Given the description of an element on the screen output the (x, y) to click on. 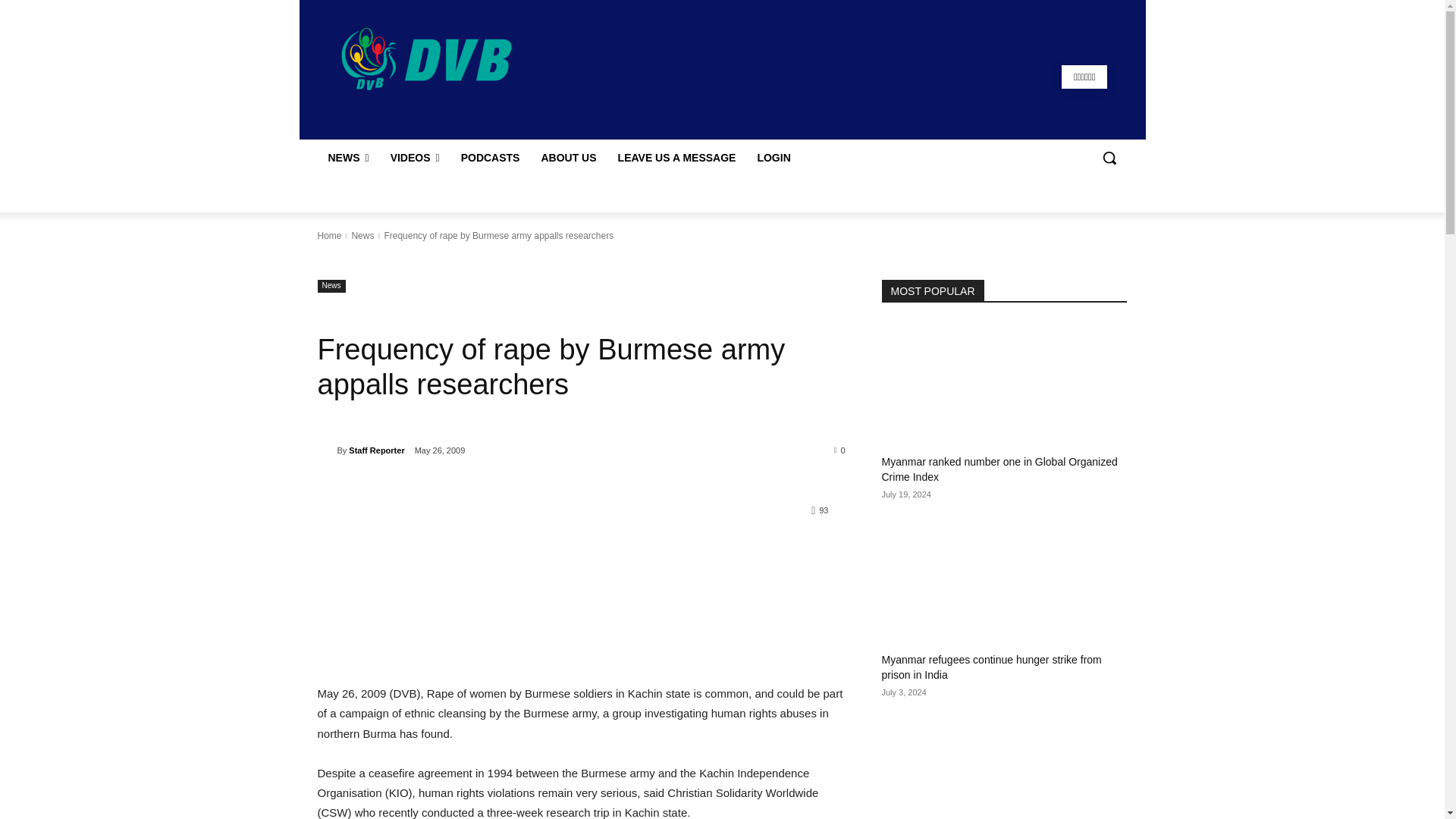
Staff Reporter (326, 450)
NEWS (347, 157)
View all posts in News (362, 235)
